Given the description of an element on the screen output the (x, y) to click on. 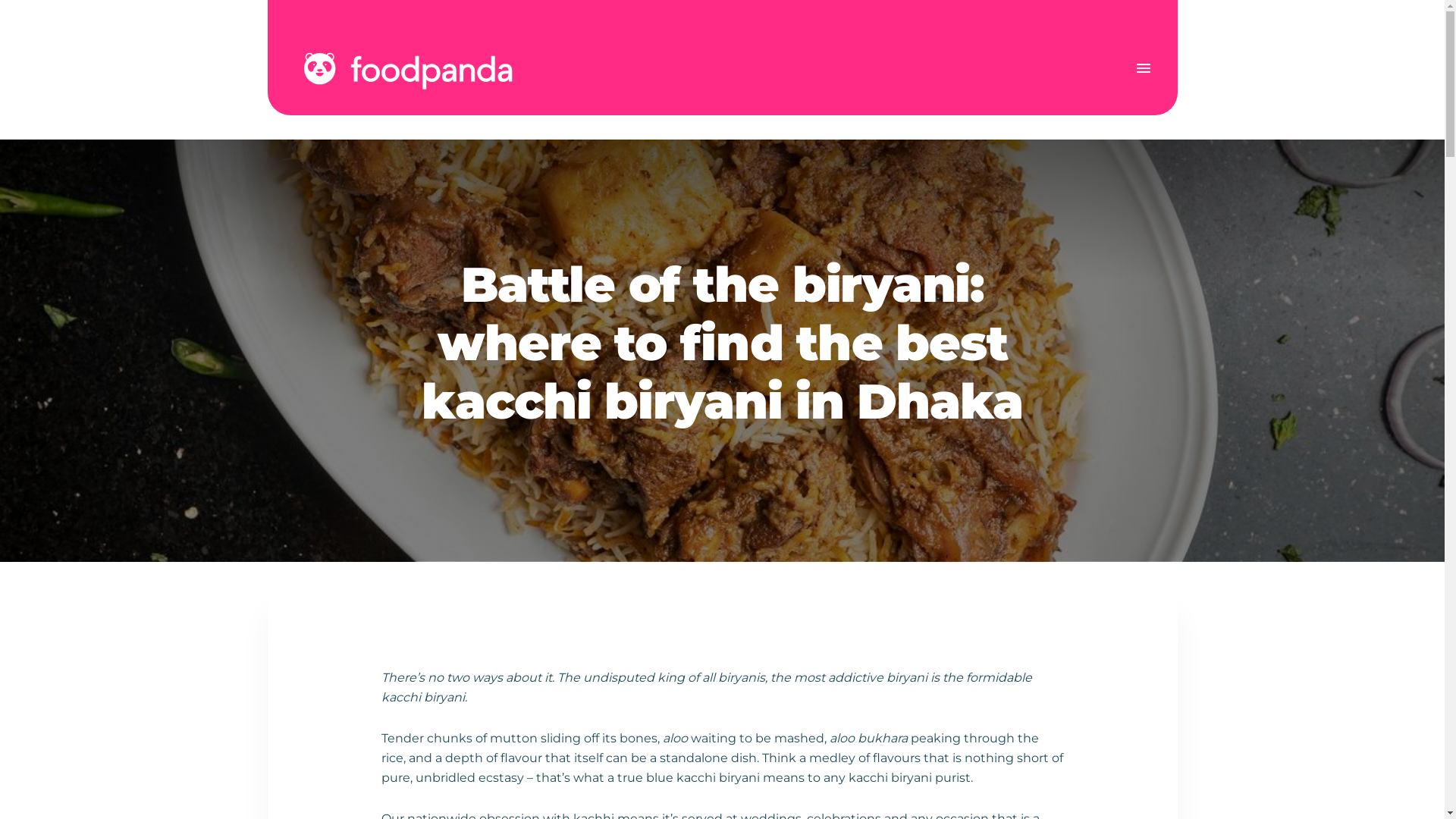
Skip to content Element type: text (0, 0)
menu Element type: text (1142, 68)
Search Element type: text (279, 77)
